Given the description of an element on the screen output the (x, y) to click on. 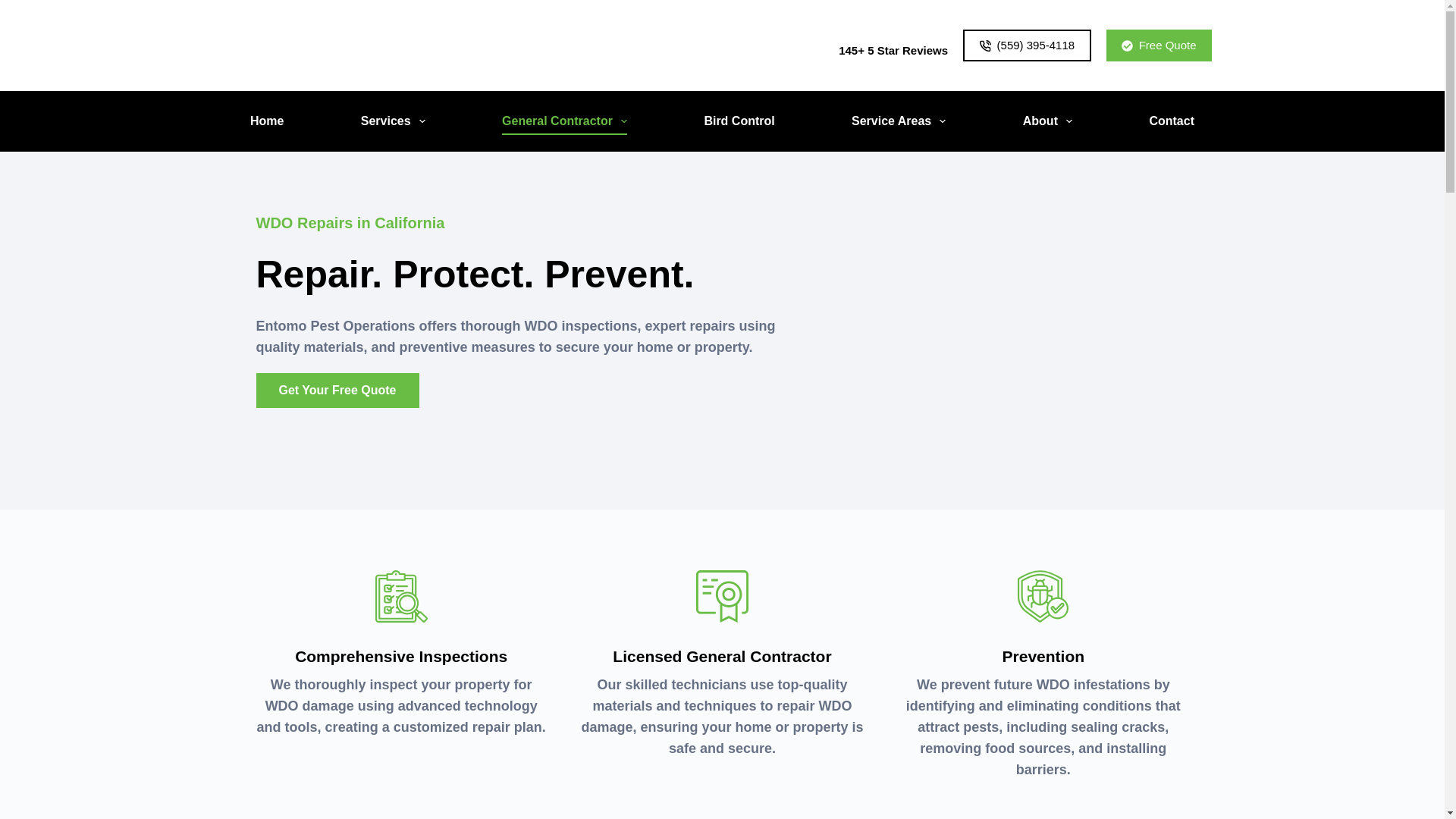
Home (267, 121)
Skip to content (15, 7)
Free Quote (1158, 45)
Services (391, 121)
